Given the description of an element on the screen output the (x, y) to click on. 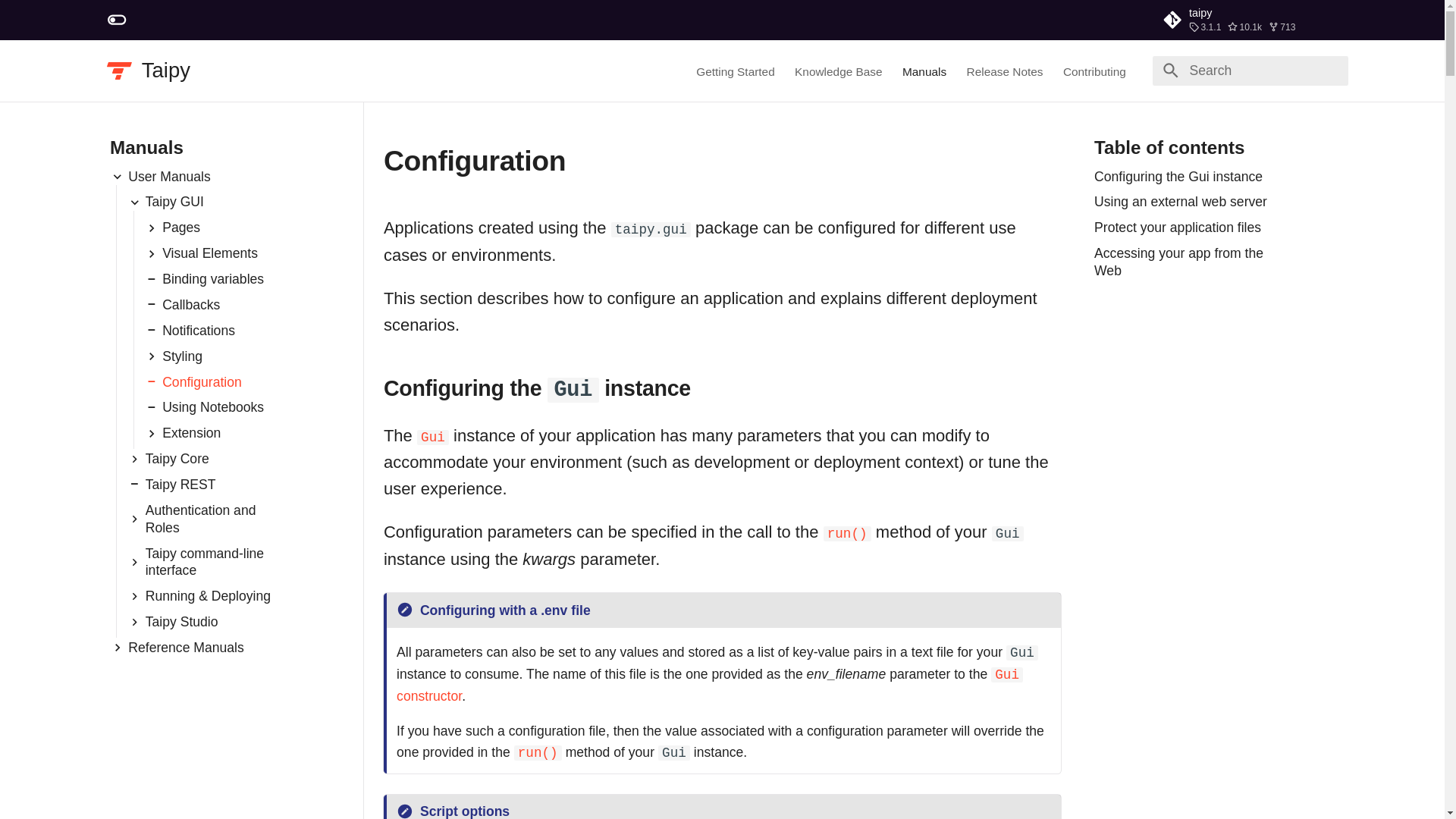
Release Notes (1004, 71)
Taipy (165, 70)
Taipy (165, 70)
Taipy (119, 70)
Knowledge Base (838, 71)
taipy (1250, 20)
Switch to dark mode (116, 19)
Manuals (924, 71)
Getting Started (734, 71)
Contributing (1093, 71)
Go to repository (1250, 20)
